Given the description of an element on the screen output the (x, y) to click on. 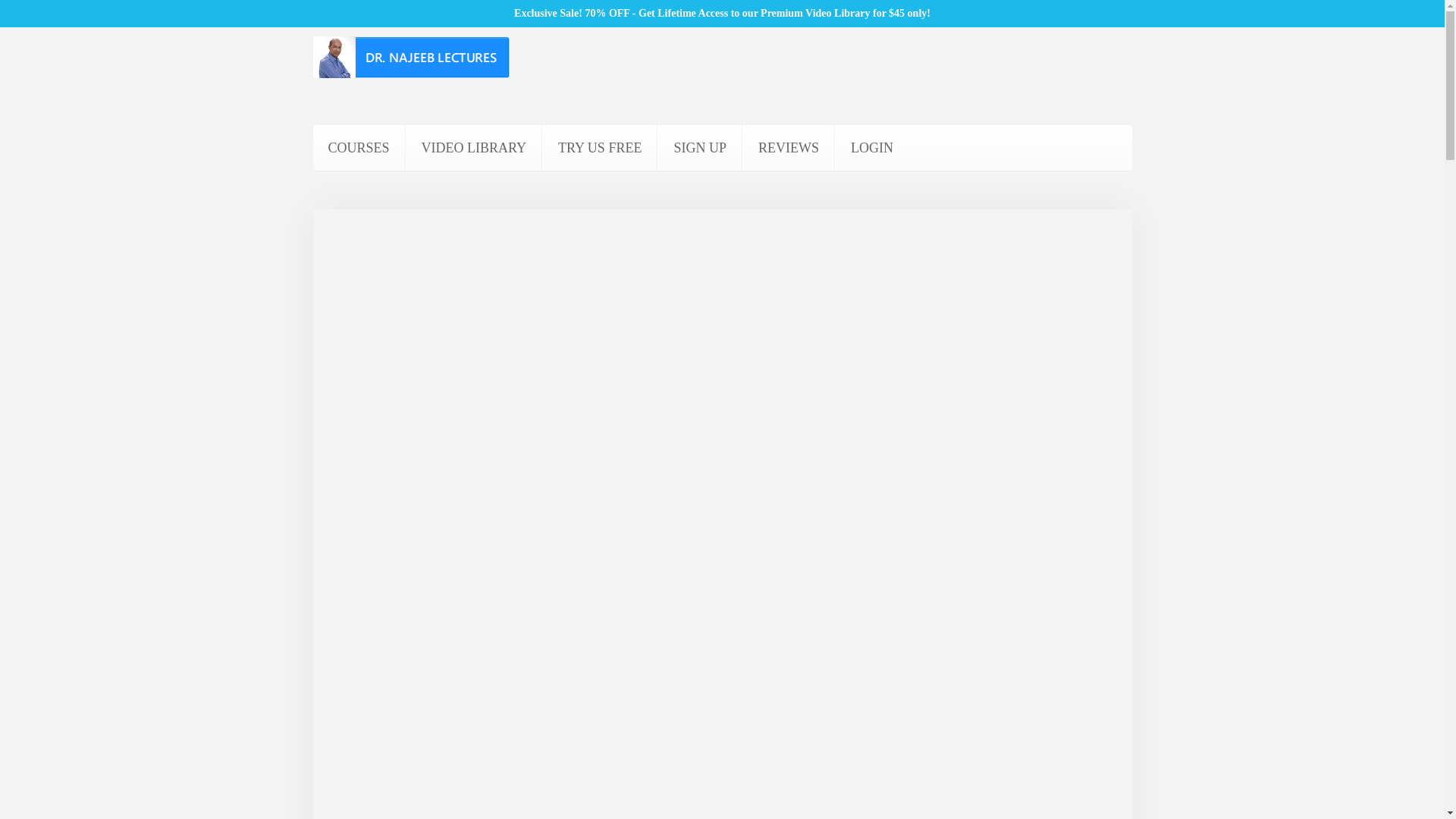
Dr. Najeeb Membership Plans (700, 147)
REVIEWS (788, 147)
COURSES (358, 147)
LOGIN (871, 147)
VIDEO LIBRARY (474, 147)
Free Medical Videos (599, 147)
Dr. Najeeb Reviews (788, 147)
TRY US FREE (599, 147)
SIGN UP (700, 147)
Dr. Najeeb Video Library (474, 147)
